Given the description of an element on the screen output the (x, y) to click on. 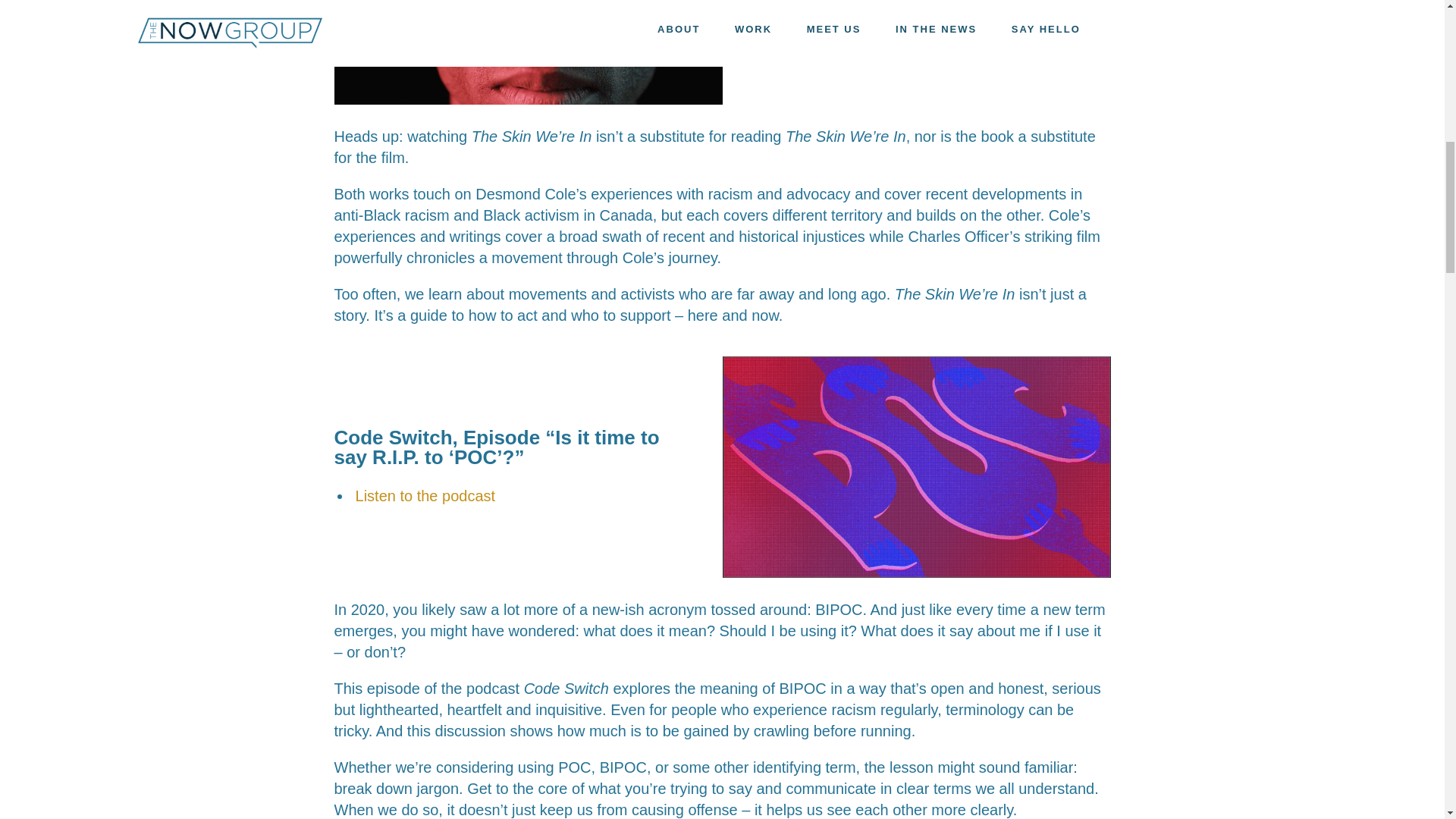
Listen to the podcast (425, 495)
